Given the description of an element on the screen output the (x, y) to click on. 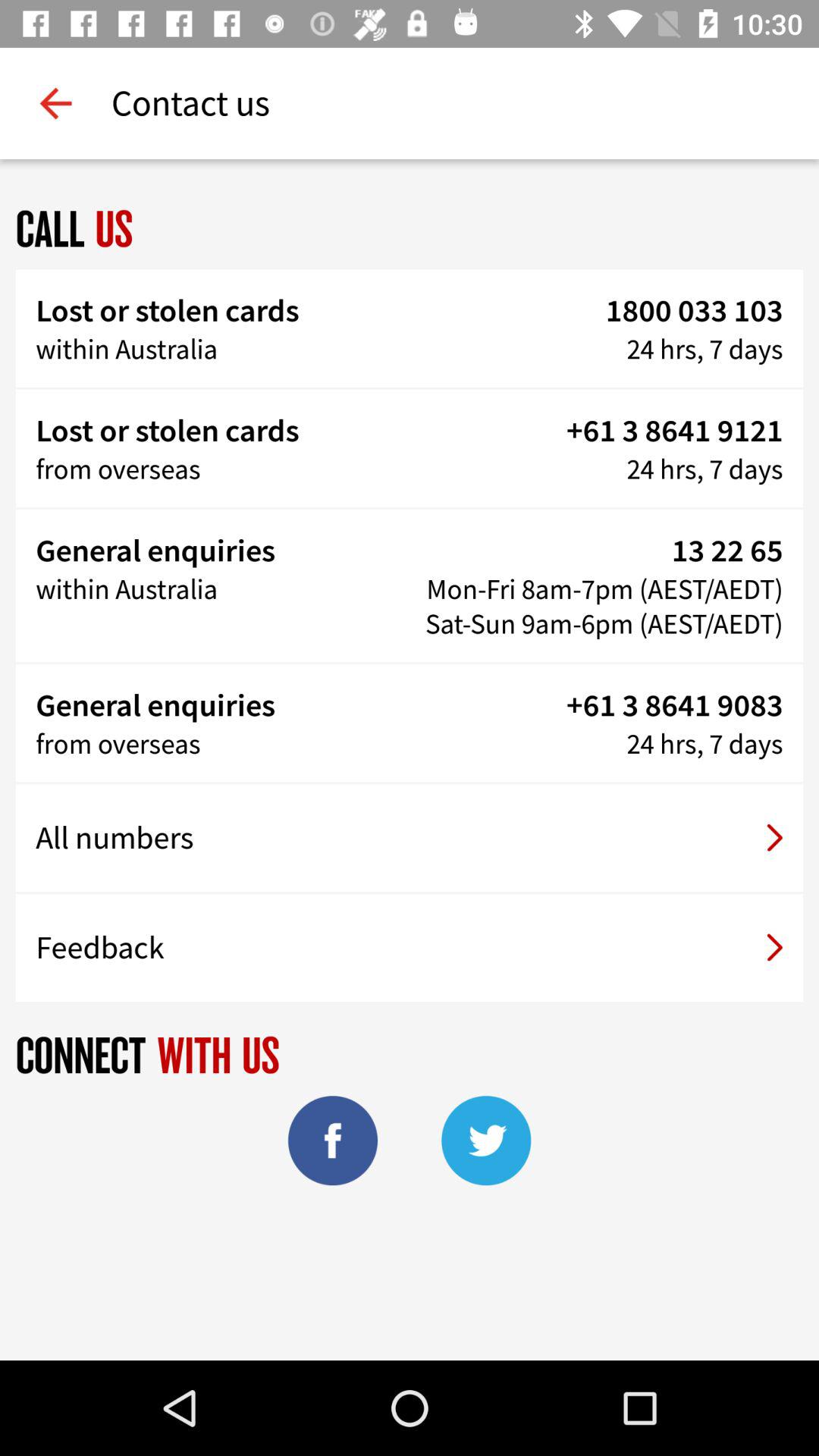
press item above connect with us item (409, 947)
